Given the description of an element on the screen output the (x, y) to click on. 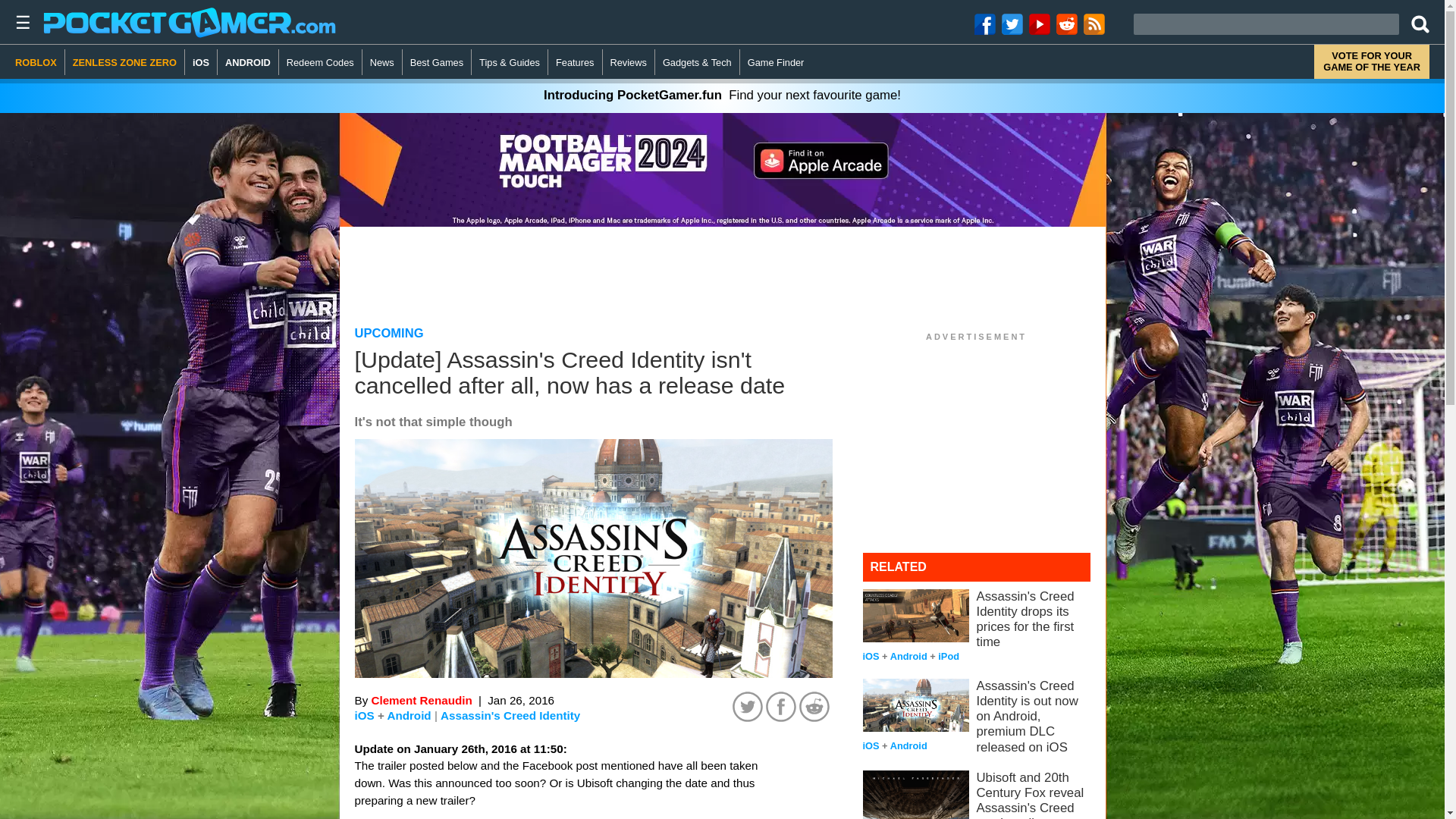
UPCOMING (389, 332)
Android (408, 715)
News (382, 62)
ANDROID (247, 62)
Redeem Codes (320, 62)
Reviews (628, 62)
Game Finder (775, 62)
Clement Renaudin (421, 699)
iOS (364, 715)
iOS (200, 62)
ROBLOX (39, 62)
Best Games (437, 62)
Features (575, 62)
Assassin's Creed Identity (510, 715)
